Given the description of an element on the screen output the (x, y) to click on. 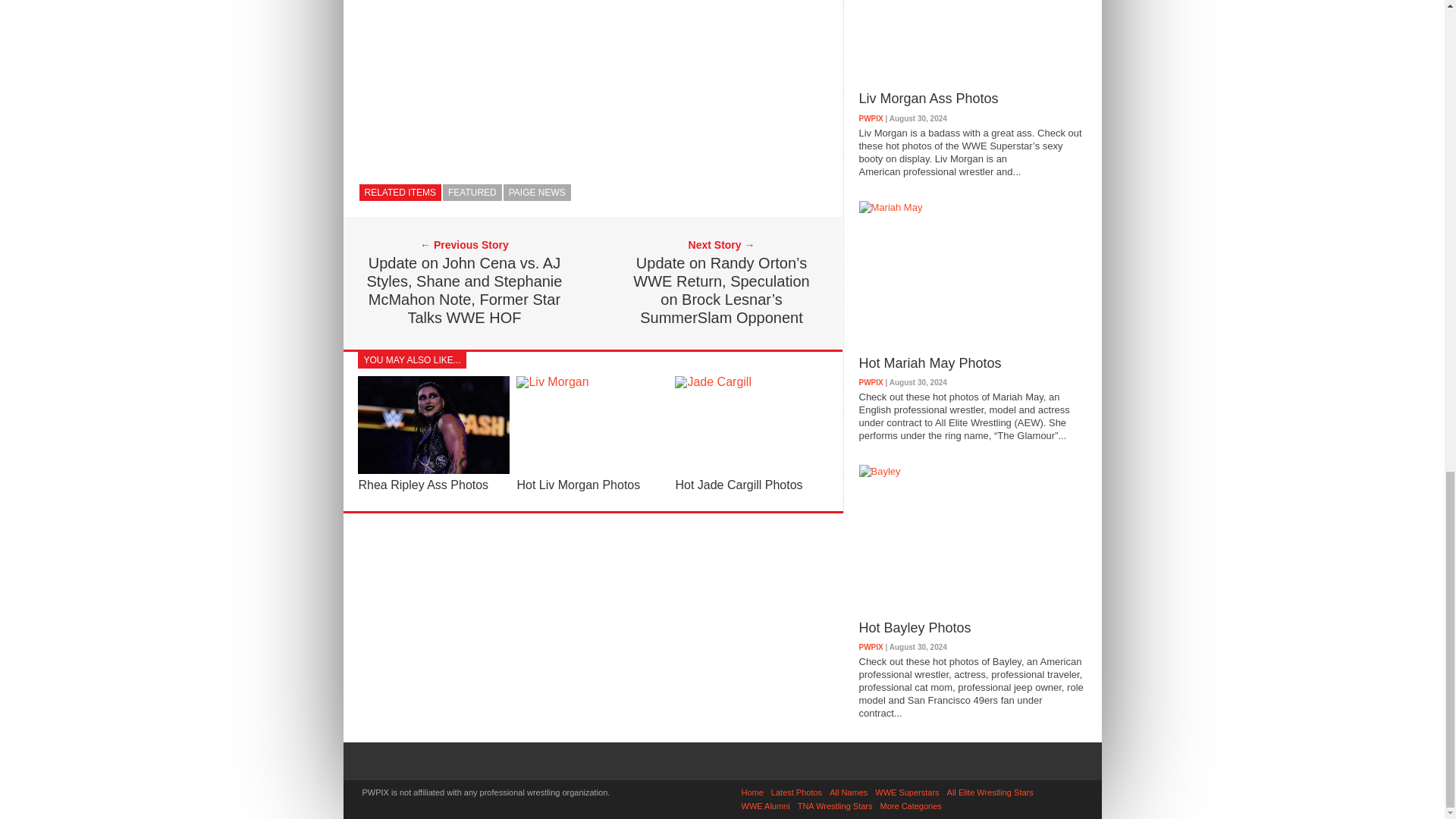
FEATURED (472, 192)
PAIGE NEWS (536, 192)
